Given the description of an element on the screen output the (x, y) to click on. 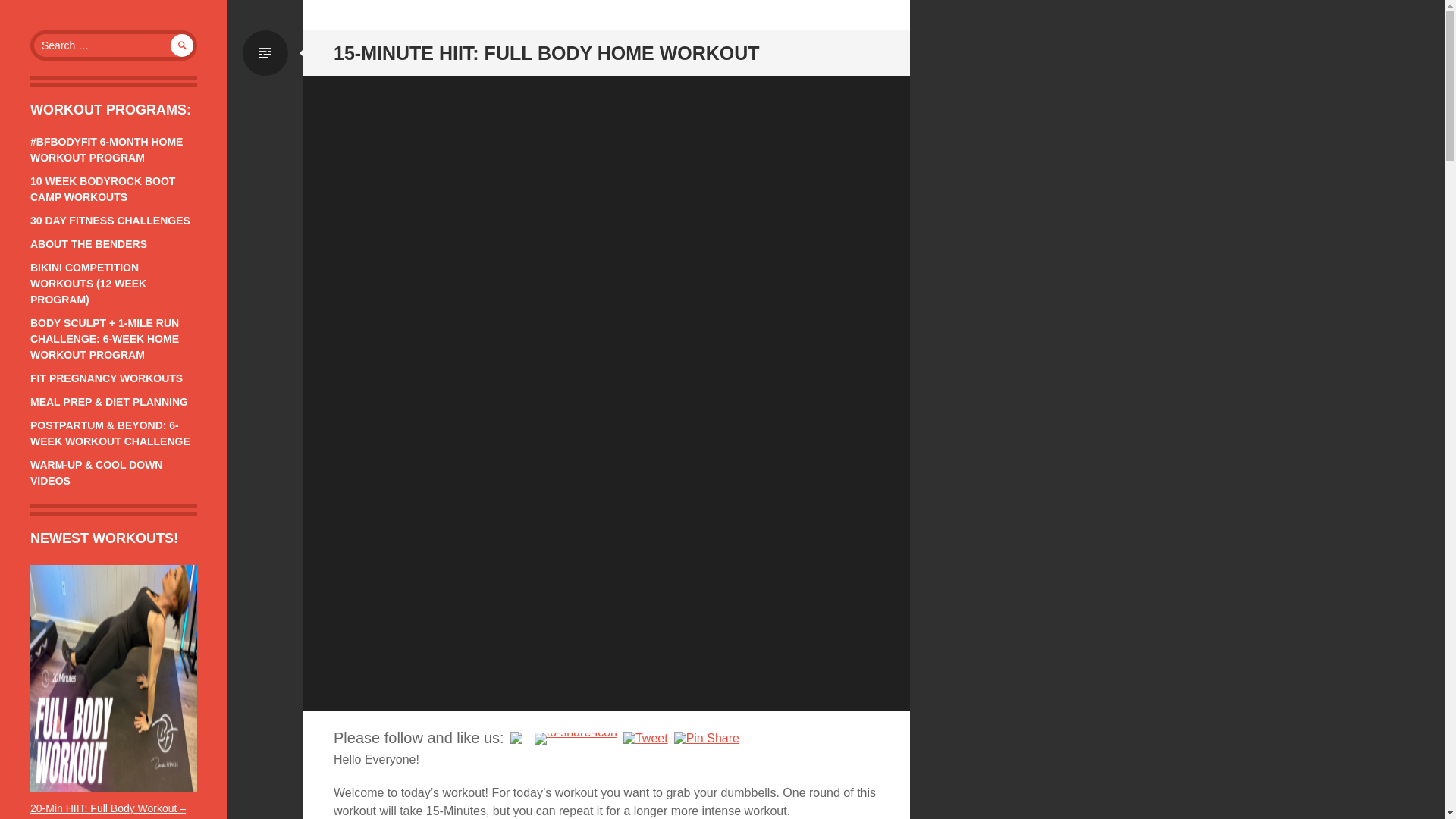
ABOUT THE BENDERS (88, 244)
Search for: (113, 45)
30 DAY FITNESS CHALLENGES (110, 220)
Tweet (645, 738)
10 WEEK BODYROCK BOOT CAMP WORKOUTS (102, 189)
Pin Share (706, 738)
Facebook Share (575, 738)
FIT PREGNANCY WORKOUTS (106, 378)
